Given the description of an element on the screen output the (x, y) to click on. 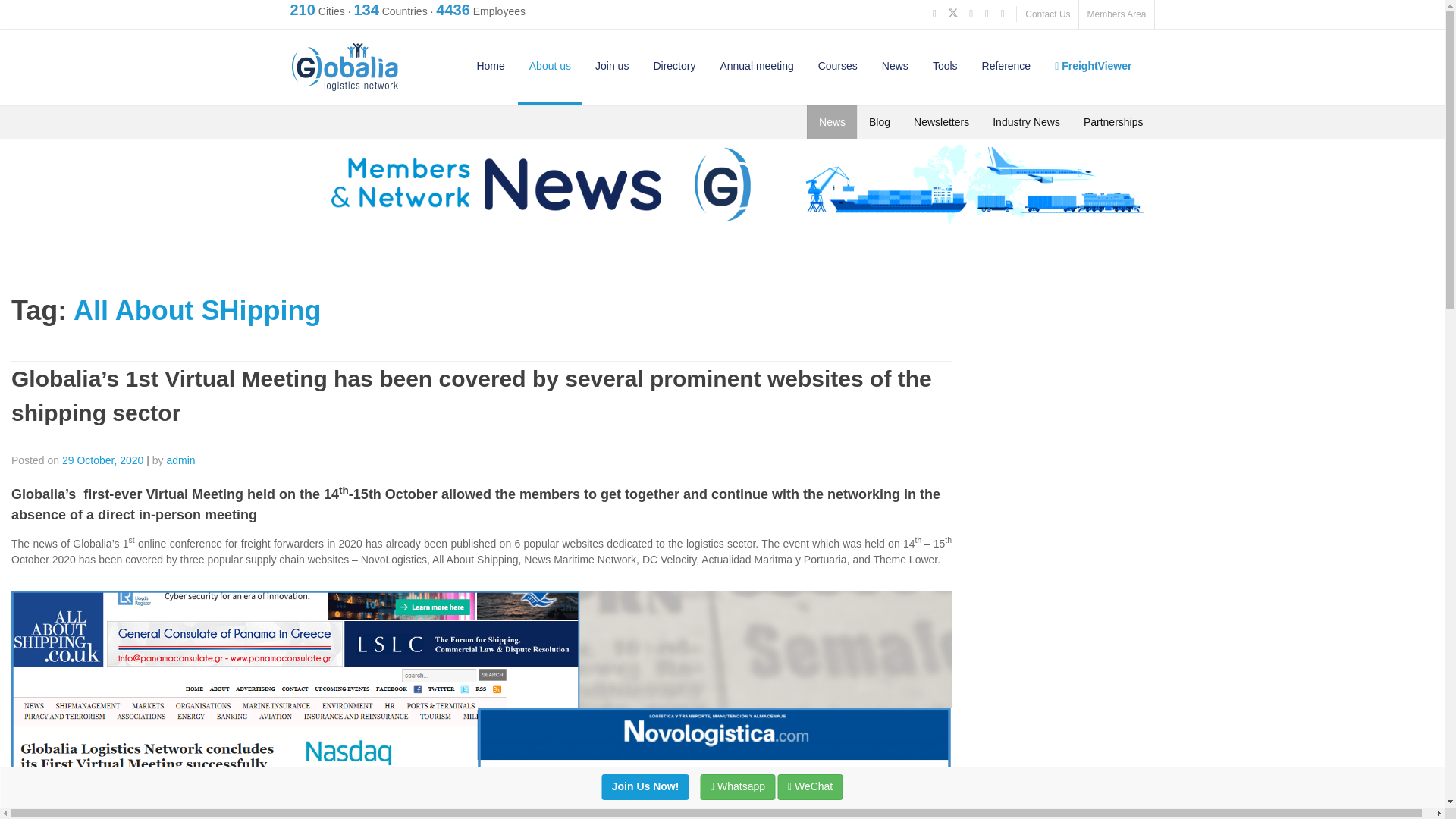
FreightViewer (1092, 65)
Newsletters (940, 121)
News (831, 121)
Directory (674, 65)
Members Area (1115, 14)
Partnerships (1113, 121)
Annual meeting (756, 65)
29 October, 2020 (102, 460)
Industry News (1026, 121)
Reference (1006, 65)
